Given the description of an element on the screen output the (x, y) to click on. 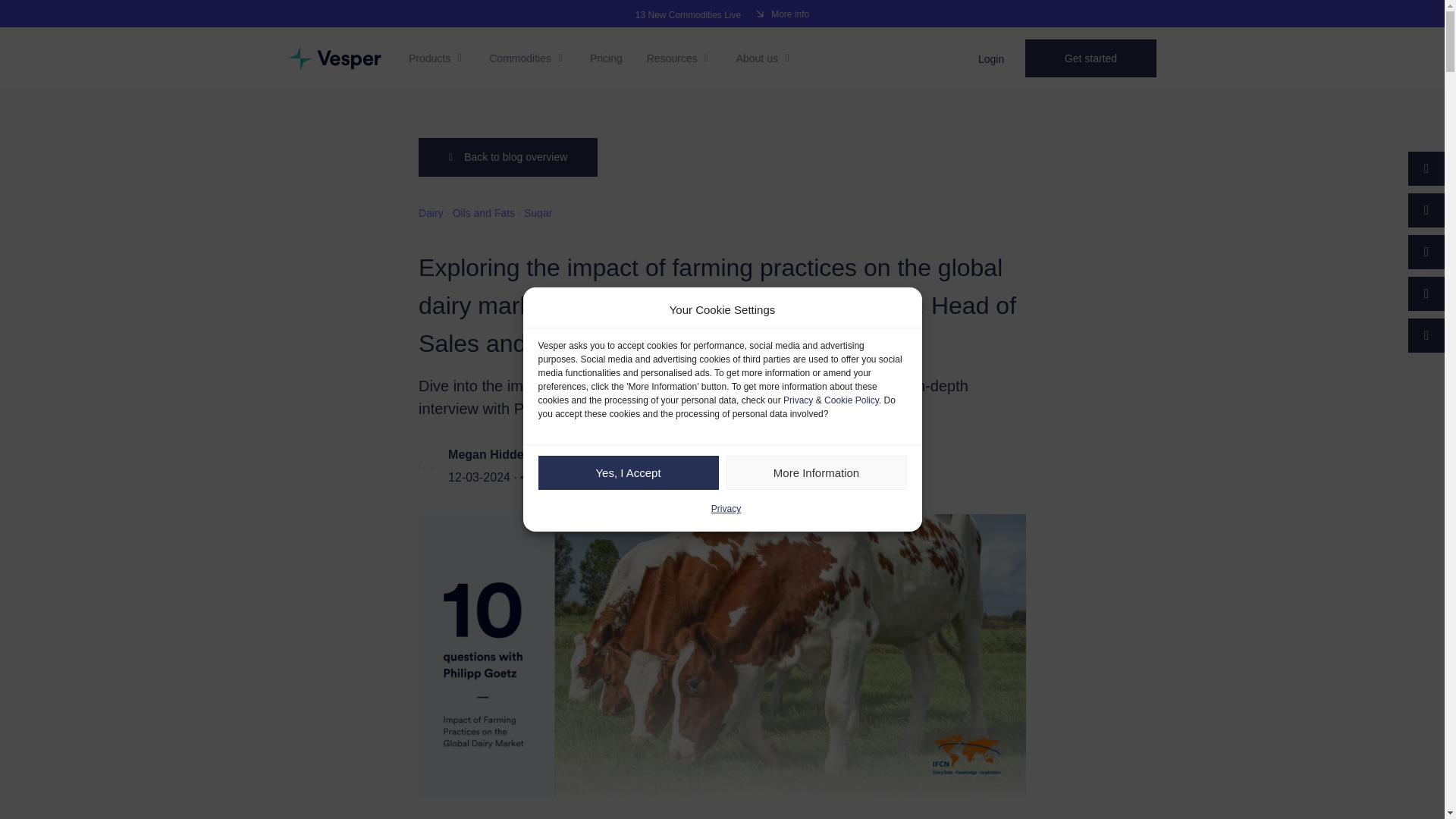
Privacy (797, 399)
More info (782, 15)
More Information (816, 472)
Yes, I Accept (628, 472)
Privacy (726, 508)
13 New Commodities Live (687, 14)
Cookie Policy (851, 399)
Pricing (606, 57)
